Given the description of an element on the screen output the (x, y) to click on. 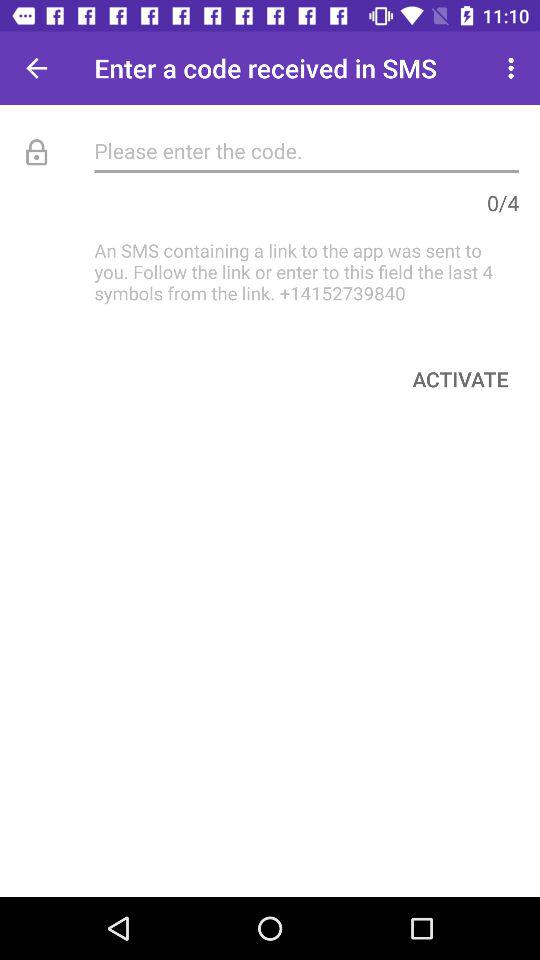
launch item next to enter a code item (513, 67)
